Given the description of an element on the screen output the (x, y) to click on. 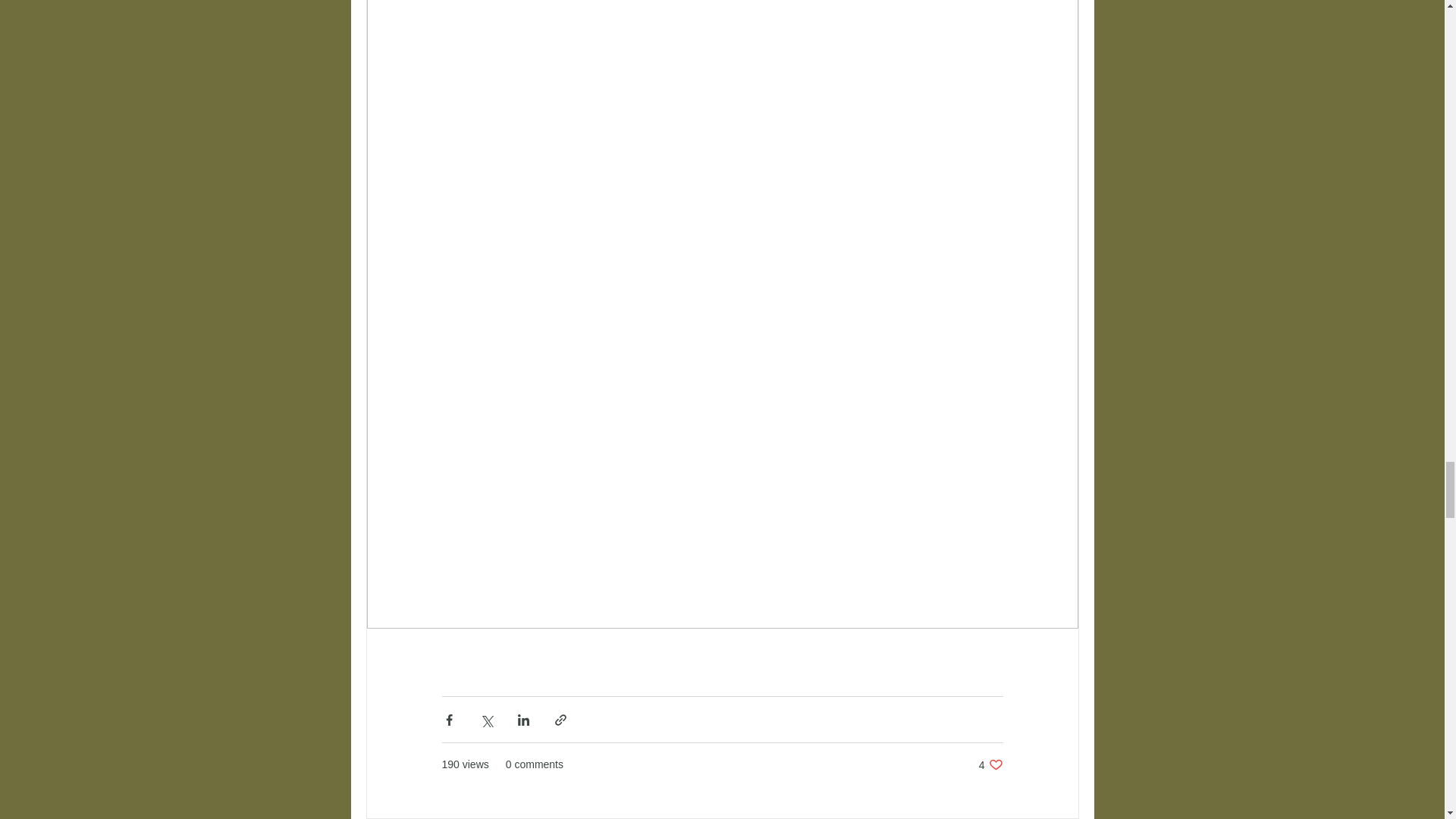
0 comments (534, 764)
